Given the description of an element on the screen output the (x, y) to click on. 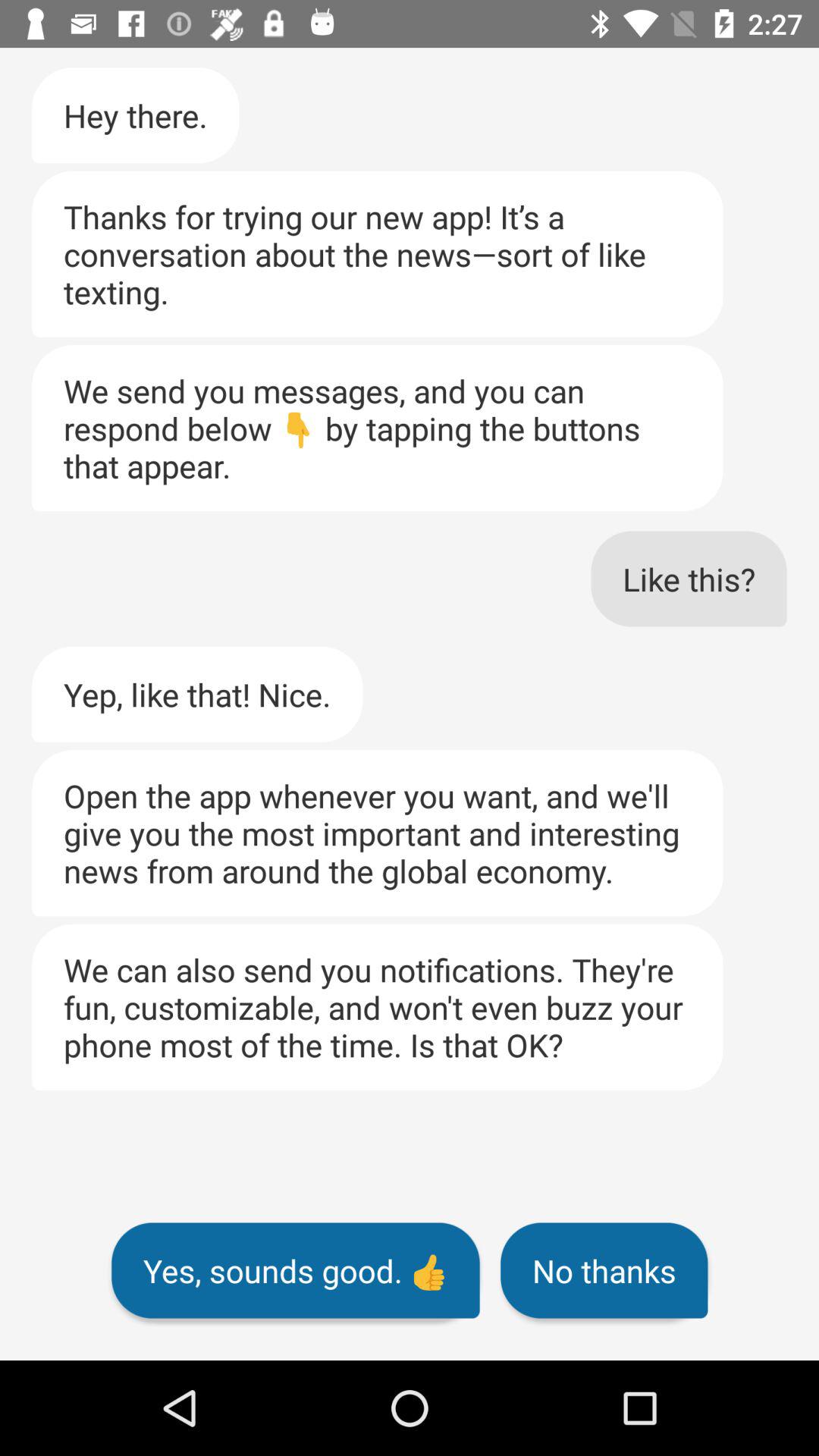
select the item below we can also icon (604, 1270)
